Given the description of an element on the screen output the (x, y) to click on. 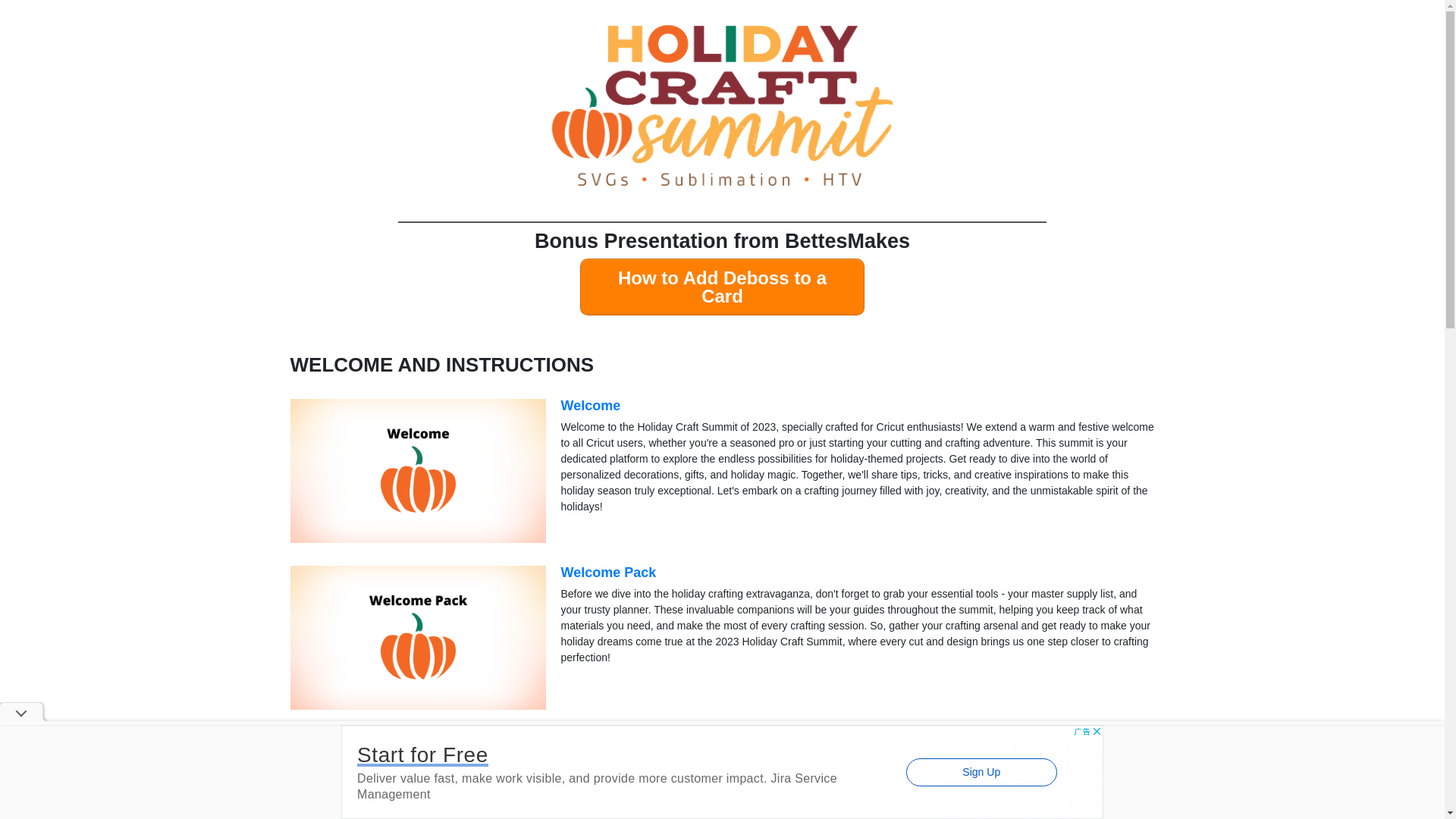
Advertisement (721, 771)
Welcome Pack (608, 572)
Welcome (590, 405)
How to Add Deboss to a Card (721, 286)
Meet the Speakers (620, 738)
Copy of HC4CM 2022 (721, 106)
